Given the description of an element on the screen output the (x, y) to click on. 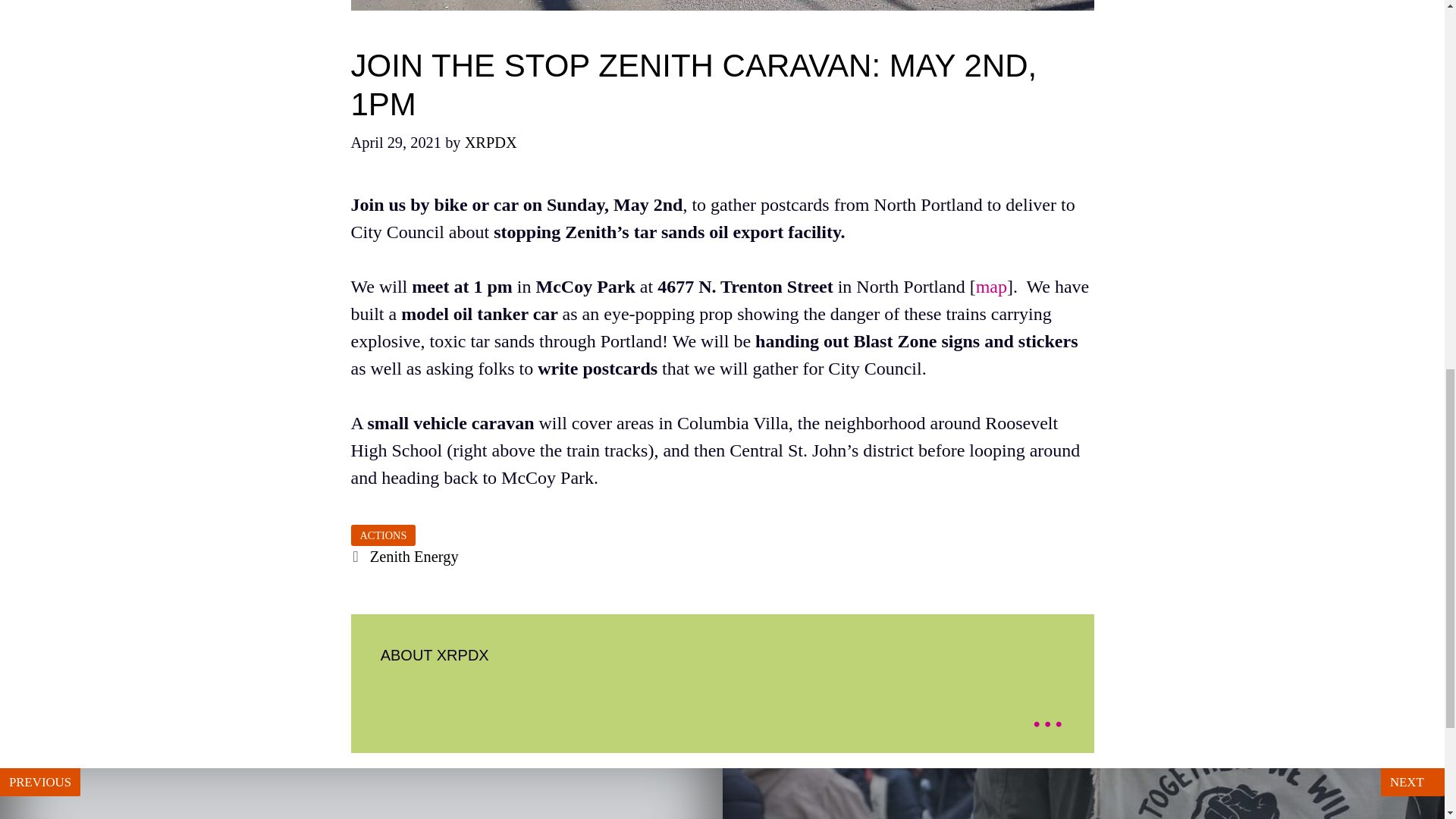
... (1047, 712)
map (991, 286)
Zenith Energy (413, 556)
XRPDX (490, 142)
View all posts by XRPDX (490, 142)
Read more (1047, 712)
Scroll back to top (361, 793)
ACTIONS (1406, 720)
